Given the description of an element on the screen output the (x, y) to click on. 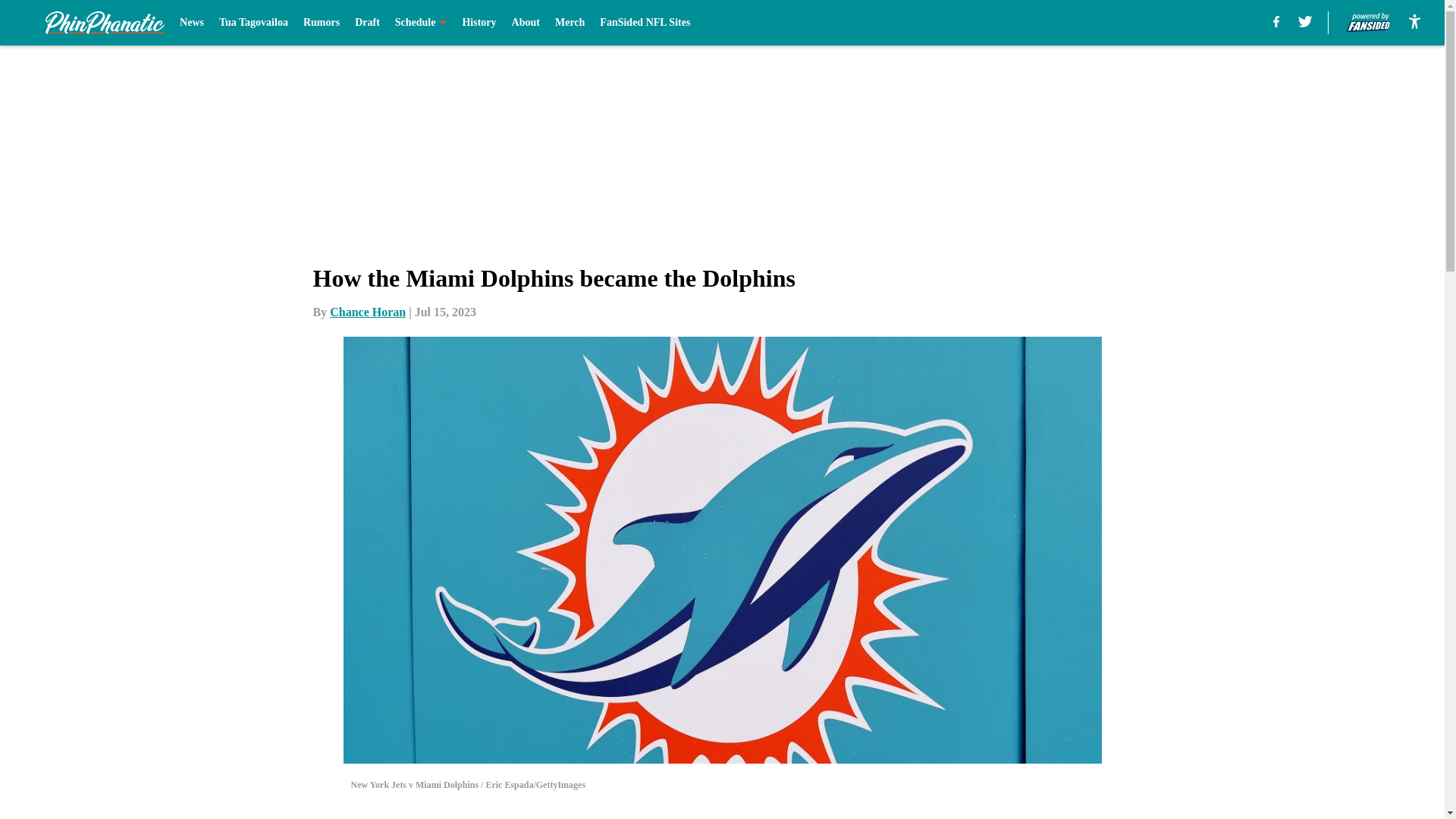
Chance Horan (368, 311)
FanSided NFL Sites (644, 22)
Rumors (320, 22)
About (526, 22)
Draft (367, 22)
History (478, 22)
News (191, 22)
Tua Tagovailoa (253, 22)
Merch (569, 22)
